Given the description of an element on the screen output the (x, y) to click on. 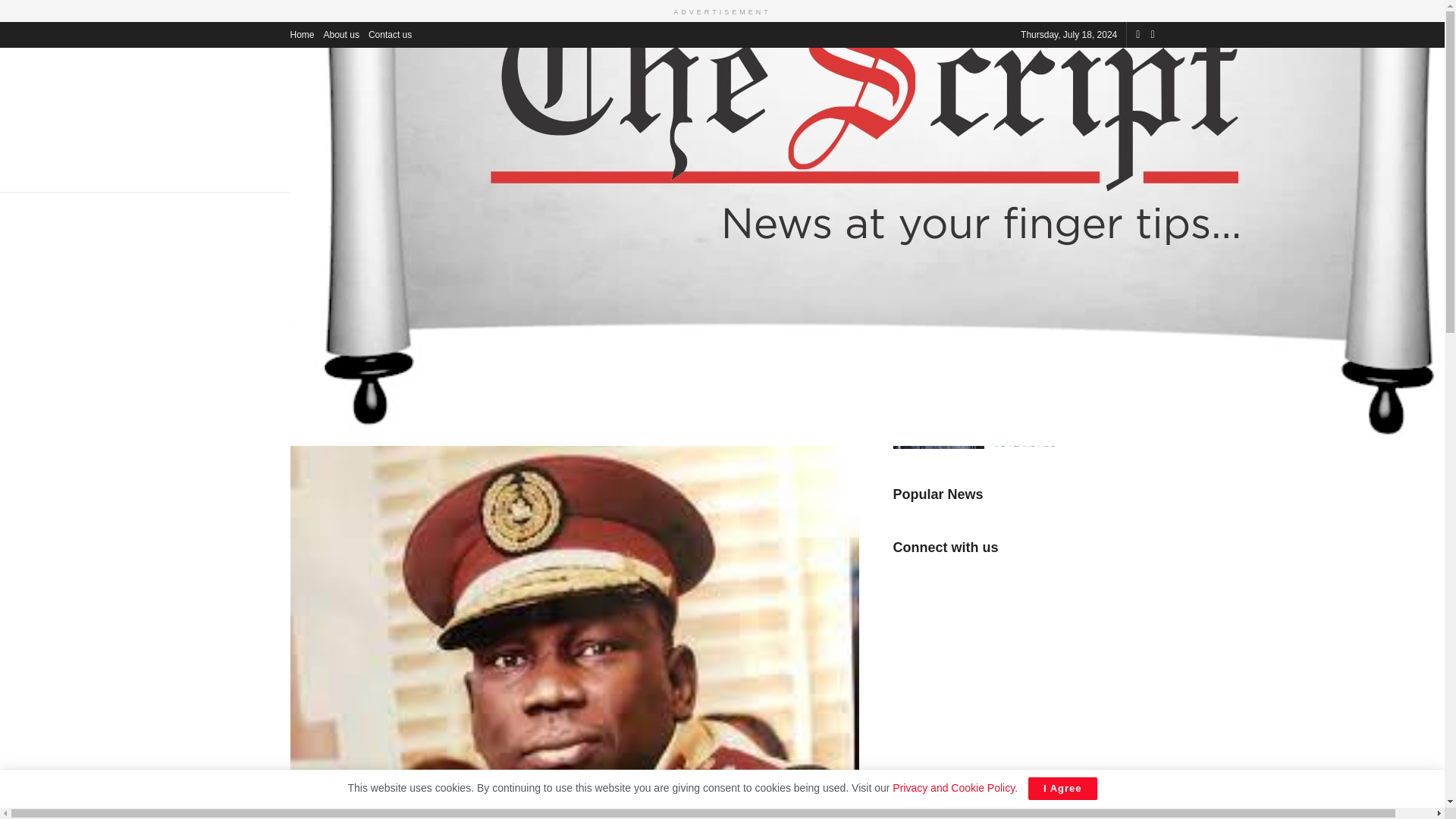
Home (301, 33)
Travel (384, 215)
HOME (305, 172)
Travel (539, 407)
INTERNATIONAL NEWS (397, 172)
Lifestyle (344, 215)
thescript (380, 407)
February 10, 2023 (468, 407)
0 (814, 406)
GUEST COLUMN (1025, 172)
0 (790, 406)
EDUCATION (935, 172)
Home (301, 215)
PRESS RELEASE (573, 172)
ECONOMY (661, 172)
